Given the description of an element on the screen output the (x, y) to click on. 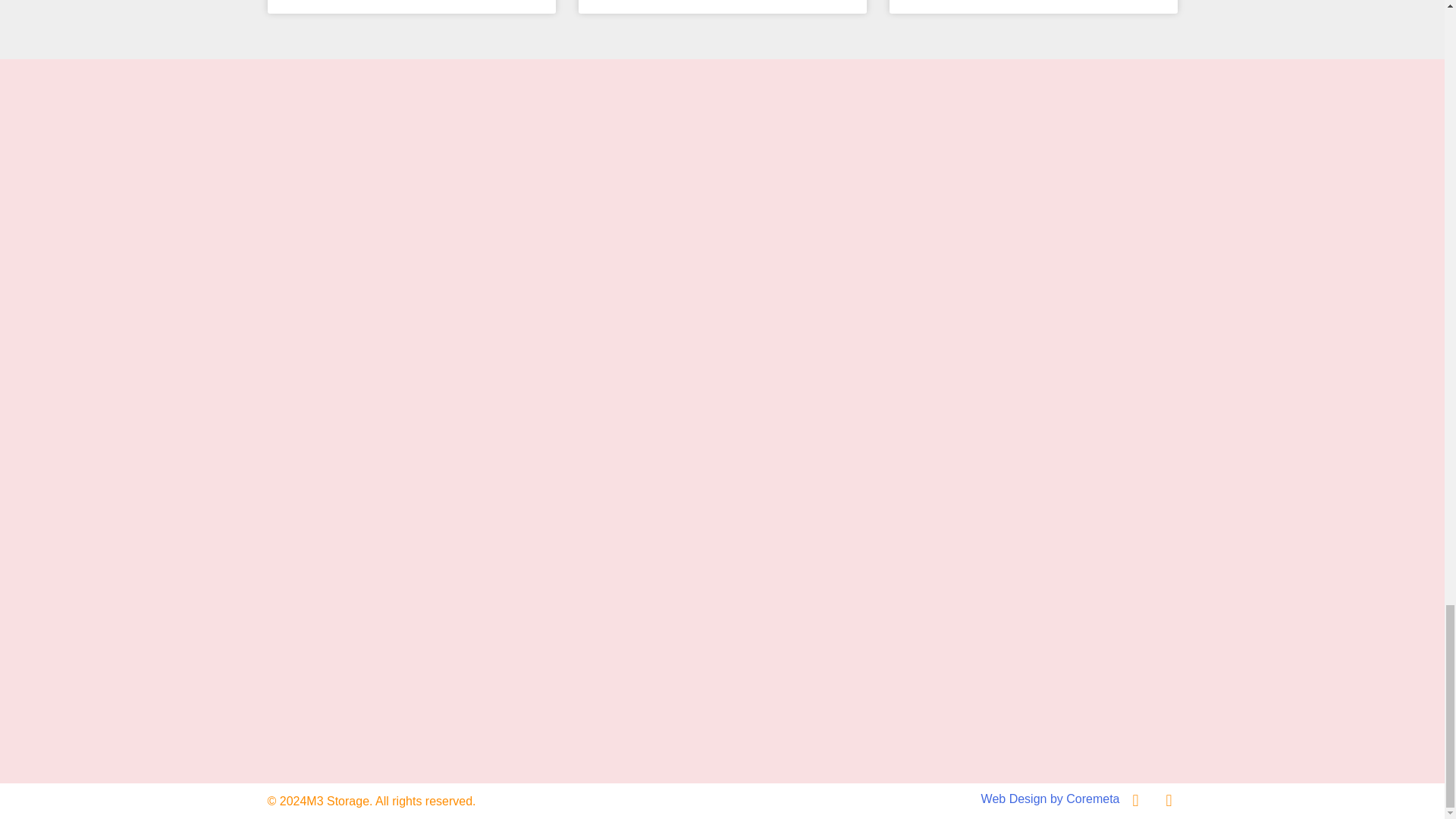
Web Design by Coremeta (1050, 798)
Facebook-f (1134, 800)
